Given the description of an element on the screen output the (x, y) to click on. 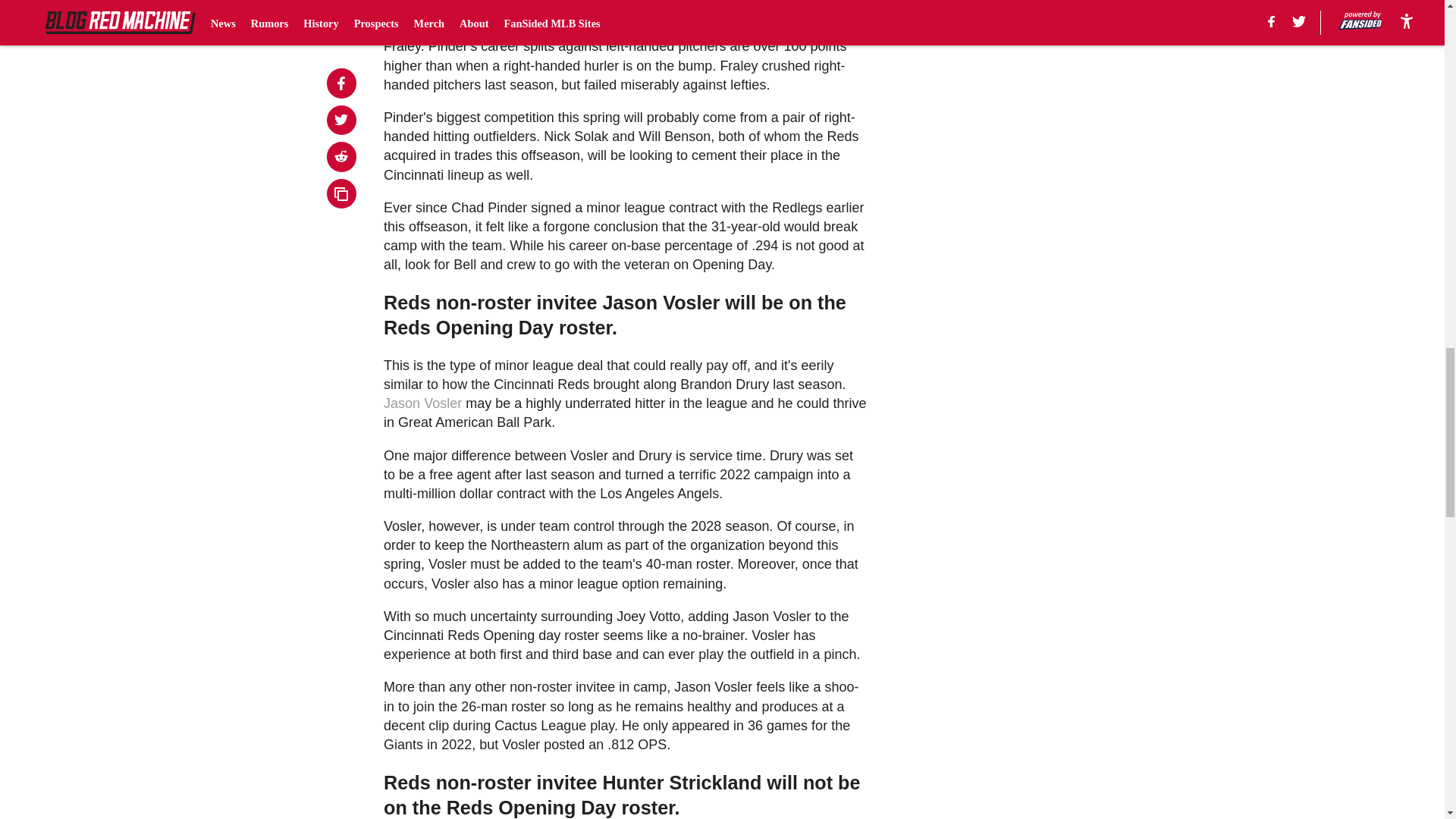
Jason Vosler (422, 403)
